Given the description of an element on the screen output the (x, y) to click on. 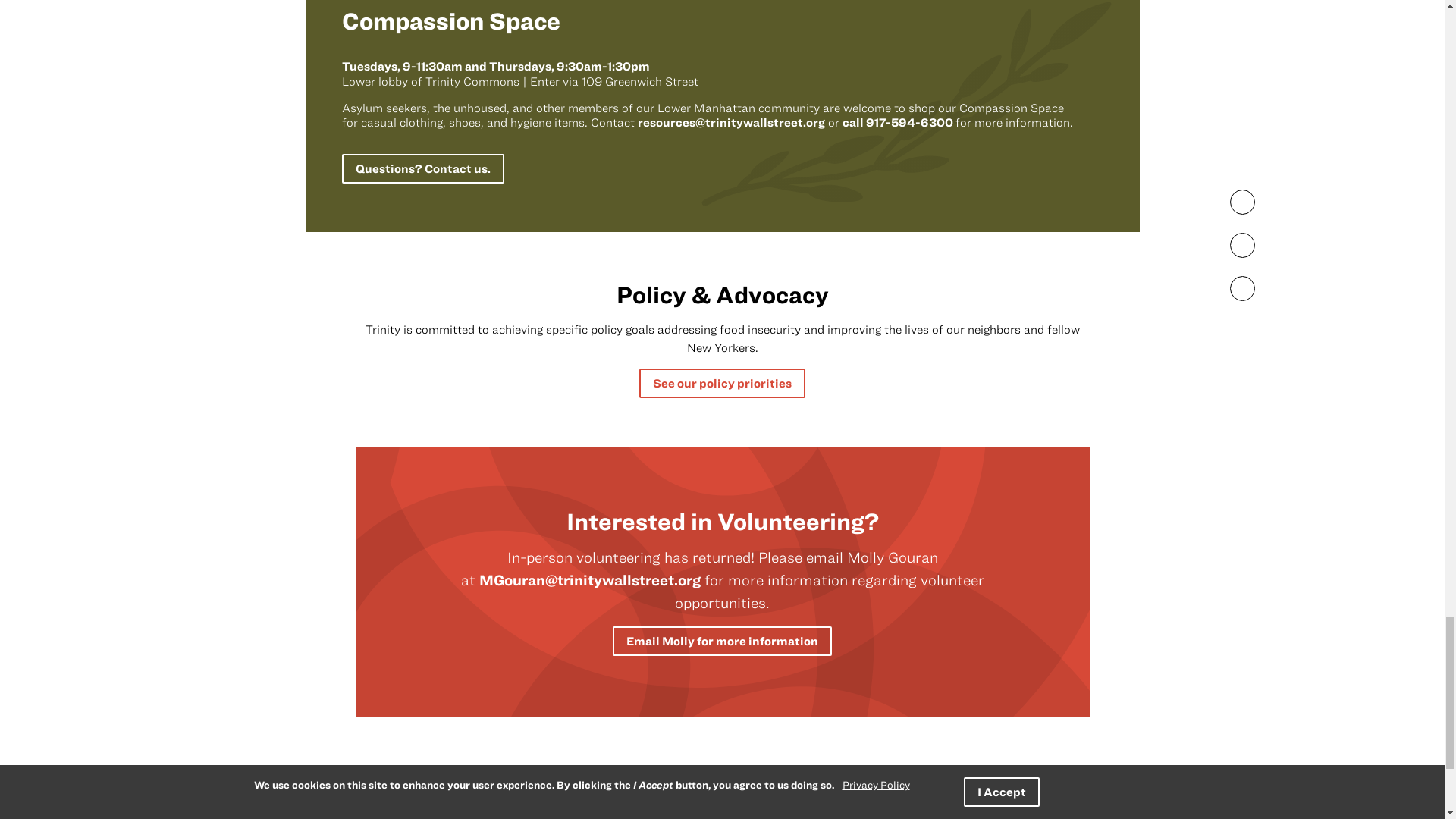
About (539, 817)
Questions? Contact us. (421, 168)
Donate (835, 817)
Home (380, 816)
Press Room (746, 817)
